Given the description of an element on the screen output the (x, y) to click on. 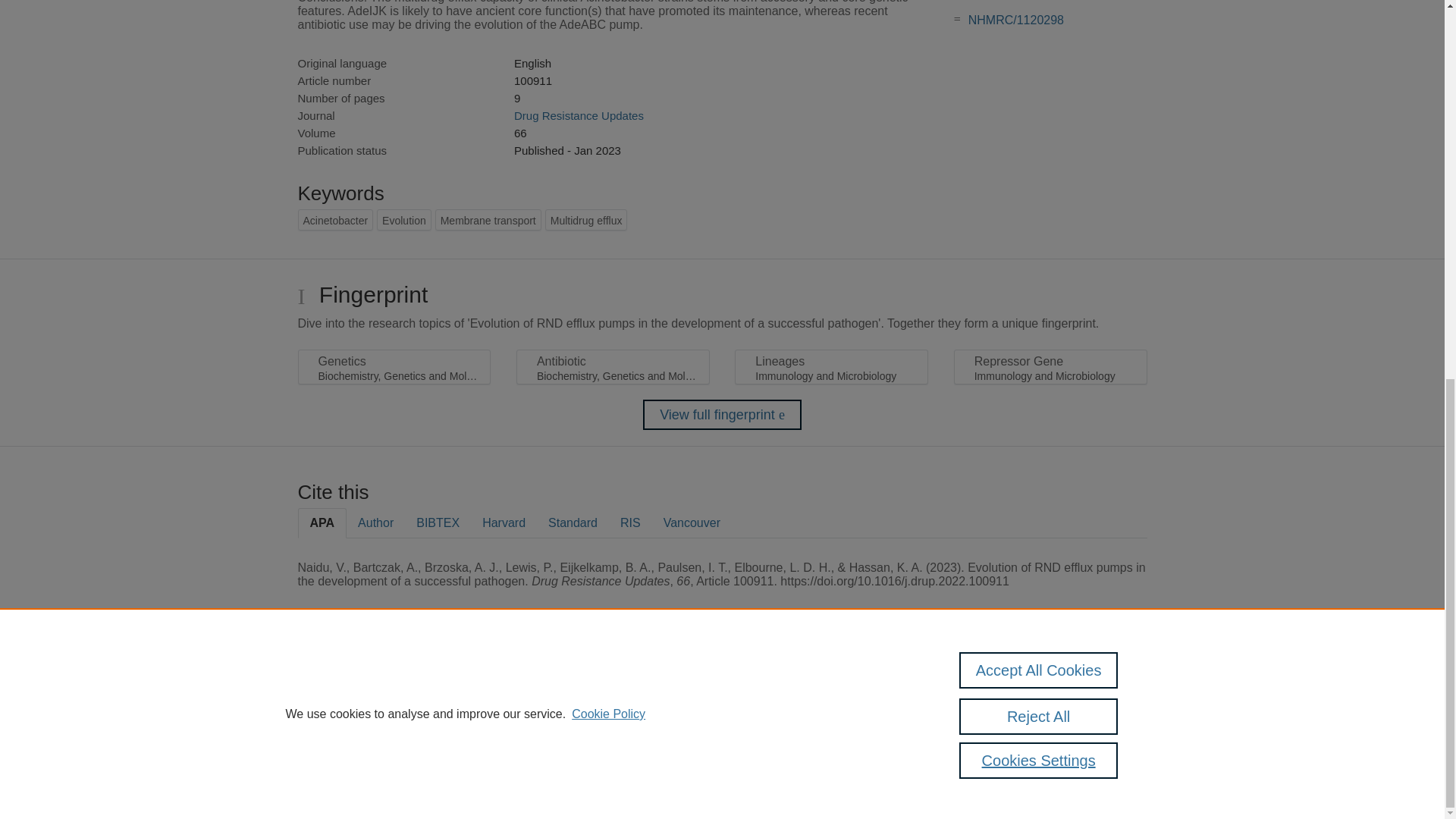
About web accessibility (1090, 692)
use of cookies (796, 739)
View full fingerprint (722, 414)
Pure (362, 686)
Log in to ResearchNow (347, 781)
Elsevier B.V. (506, 707)
Cookies Settings (334, 760)
Report vulnerability (1090, 724)
Drug Resistance Updates (578, 115)
Scopus (394, 686)
